Given the description of an element on the screen output the (x, y) to click on. 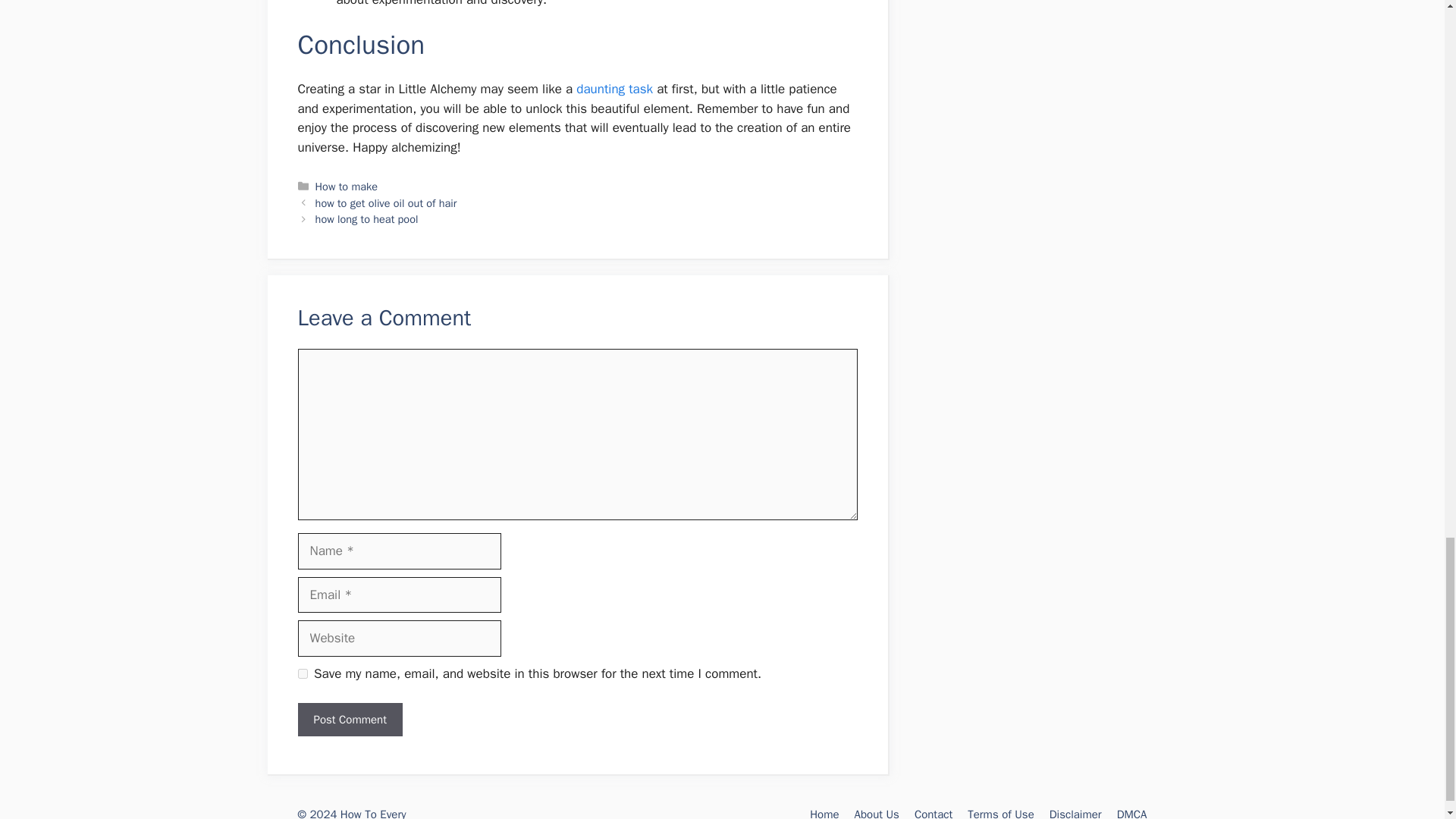
Disclaimer (1075, 813)
Post Comment (349, 719)
how to clean burnt dryer grate (614, 89)
Home (823, 813)
How to make (346, 186)
how long to heat pool (367, 219)
About Us (876, 813)
Contact (933, 813)
DMCA (1131, 813)
Post Comment (349, 719)
Terms of Use (1000, 813)
how to get olive oil out of hair (386, 202)
yes (302, 673)
daunting task (614, 89)
